Given the description of an element on the screen output the (x, y) to click on. 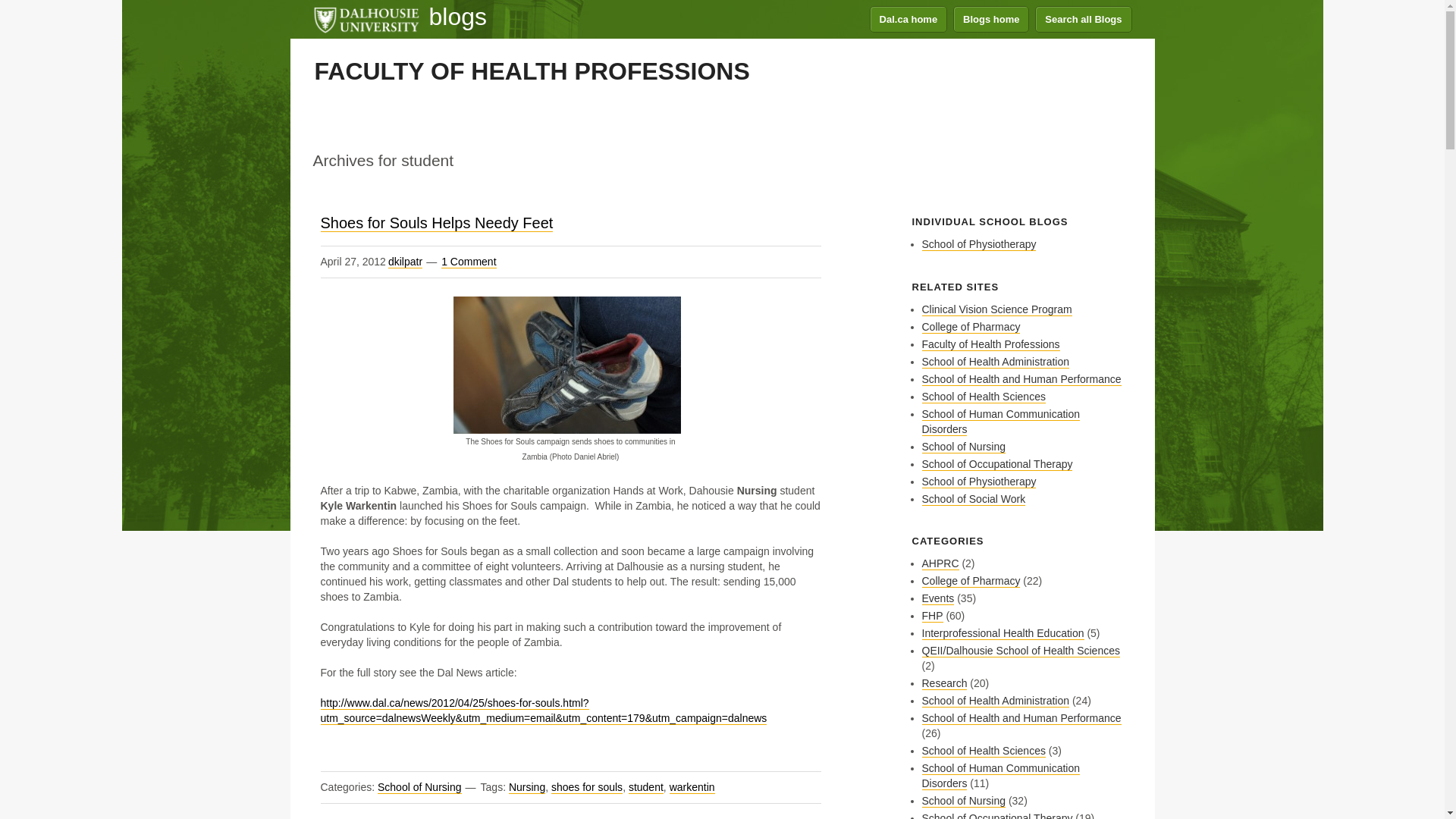
student (645, 787)
1 Comment (468, 261)
Dalhousie University (365, 18)
School of Nursing (419, 787)
warkentin (691, 787)
Blogs home (991, 18)
Dal.ca home (908, 18)
FACULTY OF HEALTH PROFESSIONS (531, 71)
Search all Blogs (1083, 18)
Nursing (526, 787)
